Given the description of an element on the screen output the (x, y) to click on. 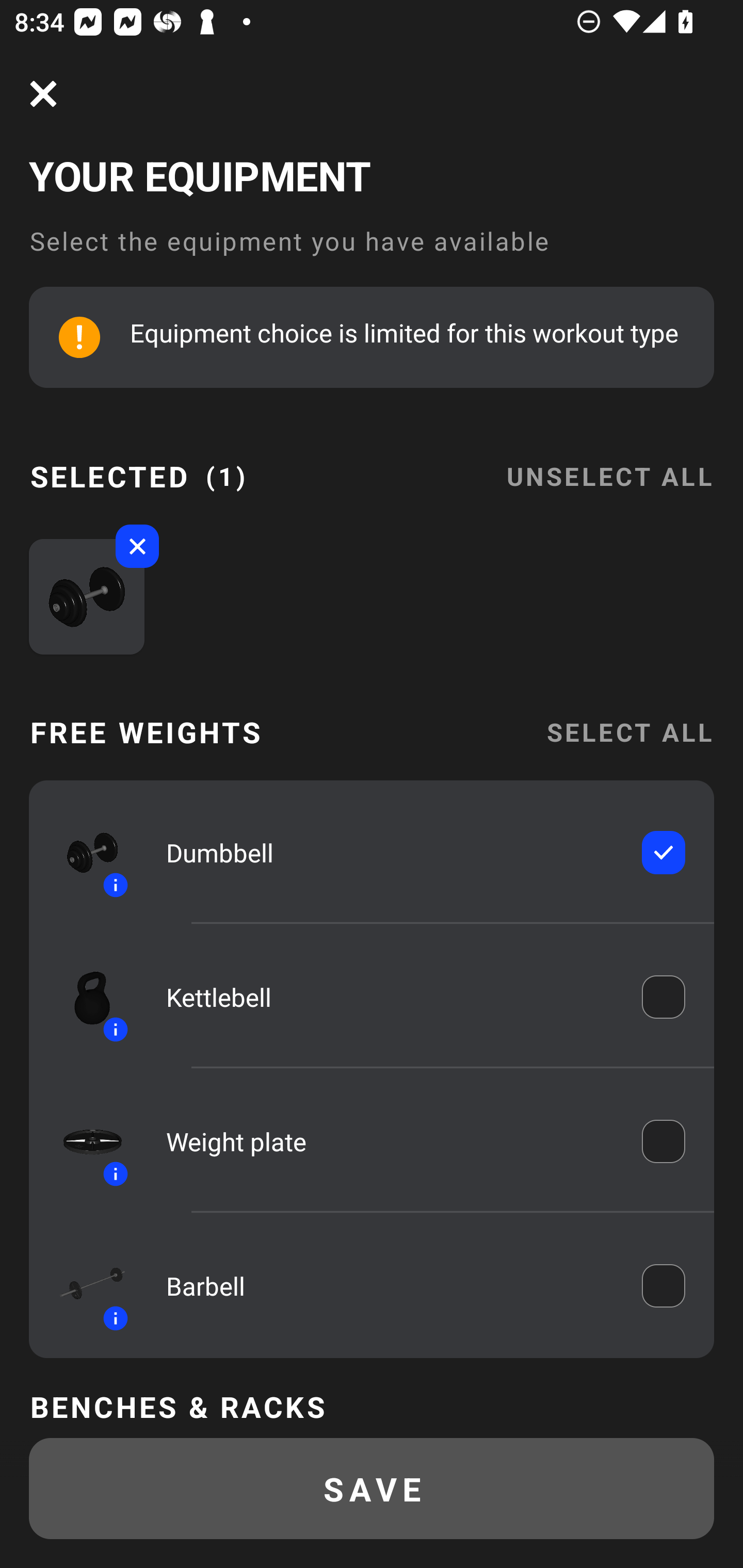
Navigation icon (43, 93)
UNSELECT ALL (609, 463)
SELECT ALL (629, 731)
Equipment icon Information icon (82, 852)
Dumbbell (389, 852)
Equipment icon Information icon (82, 996)
Kettlebell (389, 996)
Equipment icon Information icon (82, 1140)
Weight plate (389, 1141)
Equipment icon Information icon (82, 1286)
Barbell (389, 1285)
SAVE (371, 1488)
